Given the description of an element on the screen output the (x, y) to click on. 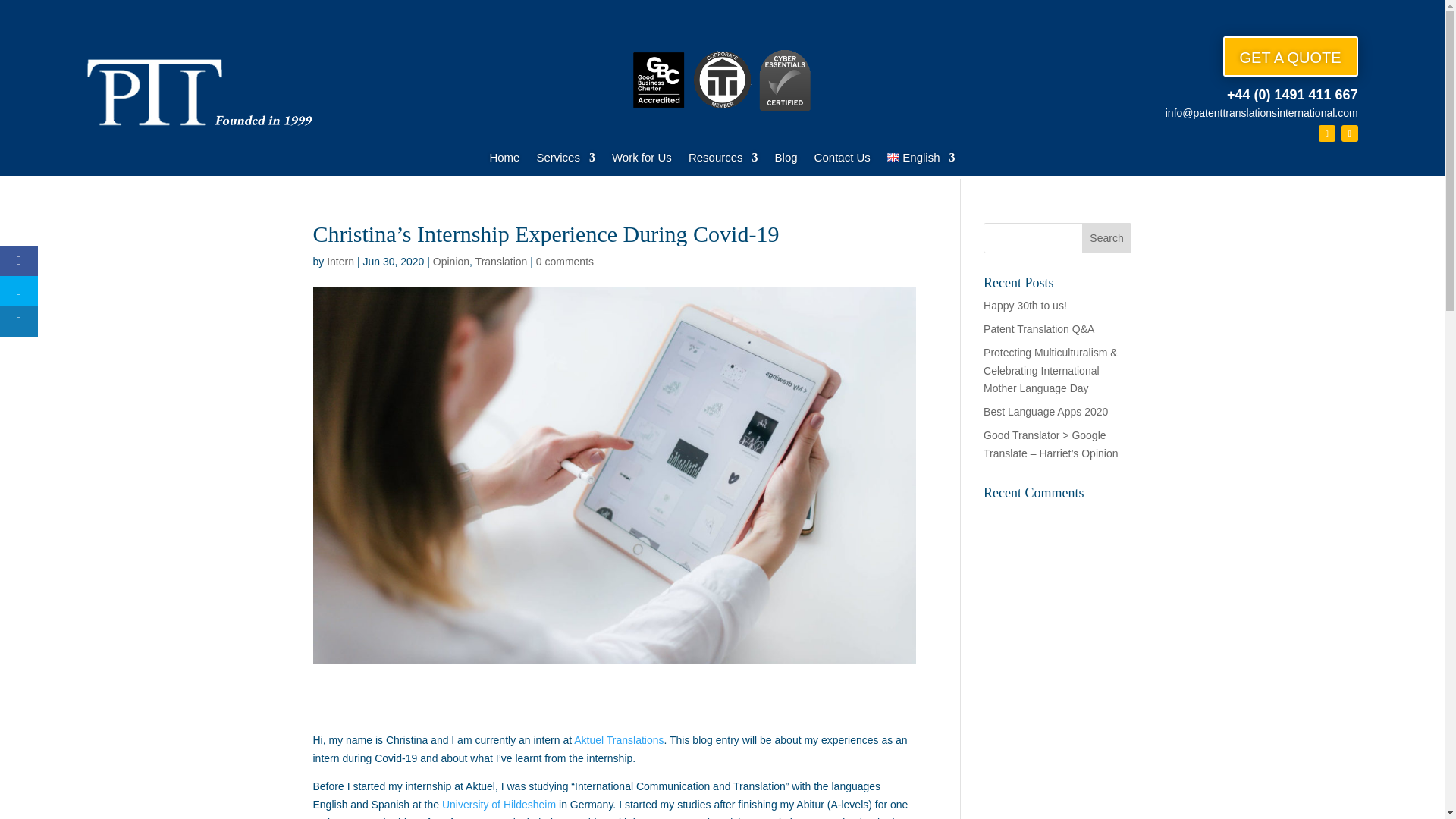
Contact Us (841, 160)
Follow on LinkedIn (1327, 133)
Follow on X (1349, 133)
Posts by Intern (339, 261)
Resources (723, 160)
GET A QUOTE (1290, 56)
Patent Translations International (200, 93)
Blog (785, 160)
Services (565, 160)
English (920, 160)
